Given the description of an element on the screen output the (x, y) to click on. 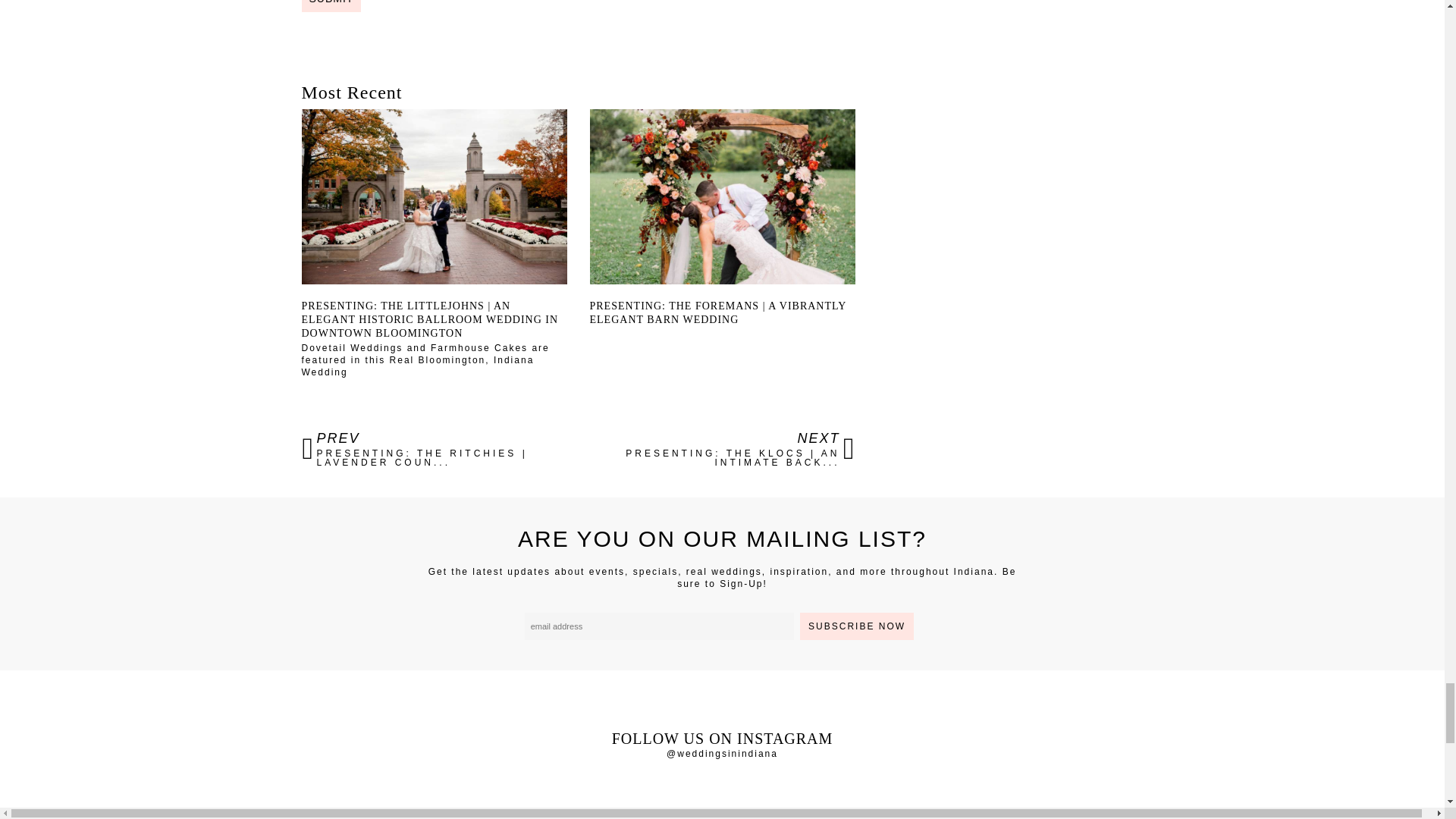
SUBMIT (331, 6)
SUBSCRIBE NOW (856, 625)
